Given the description of an element on the screen output the (x, y) to click on. 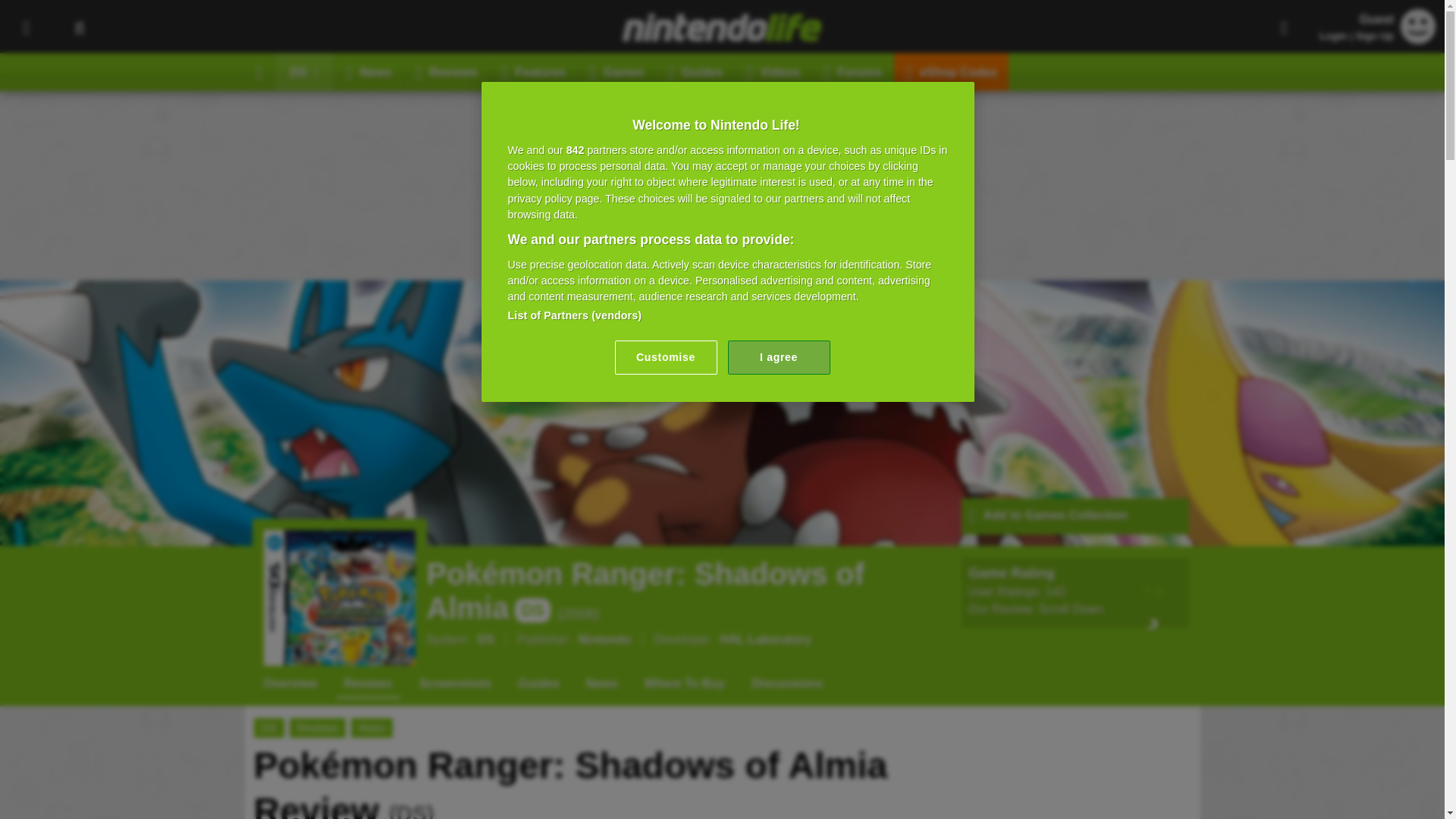
DS (304, 71)
News (368, 71)
Guest (1417, 39)
Sign Up (1374, 35)
Guides (695, 71)
Search (79, 26)
Nintendo Life (721, 27)
Reviews (447, 71)
Games (617, 71)
Guest (1417, 26)
Home (259, 71)
Nintendo Life (721, 27)
Topics (26, 26)
Share This Page (1283, 26)
Forums (852, 71)
